Given the description of an element on the screen output the (x, y) to click on. 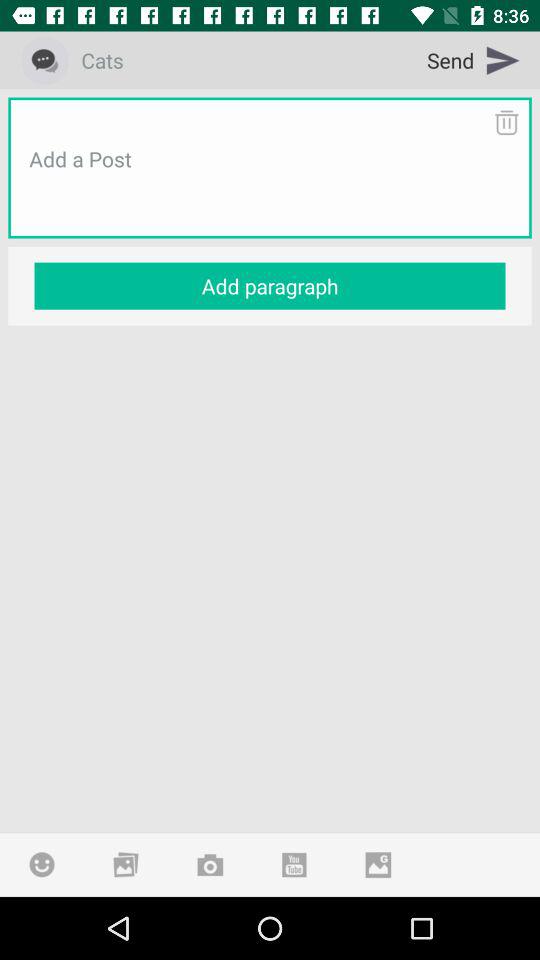
flip until the send item (474, 60)
